Given the description of an element on the screen output the (x, y) to click on. 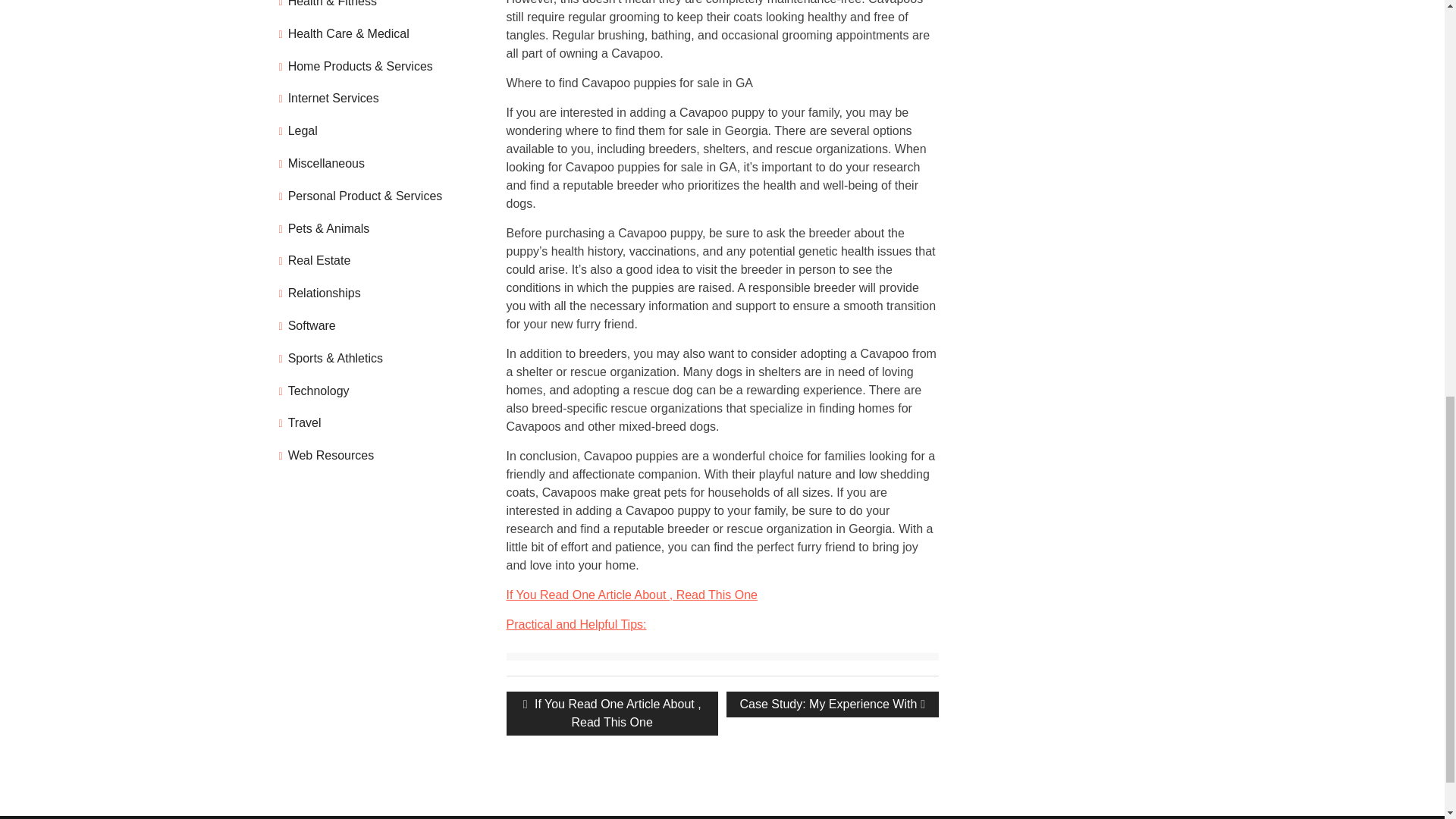
If You Read One Article About , Read This One (631, 594)
Practical and Helpful Tips: (611, 713)
